Given the description of an element on the screen output the (x, y) to click on. 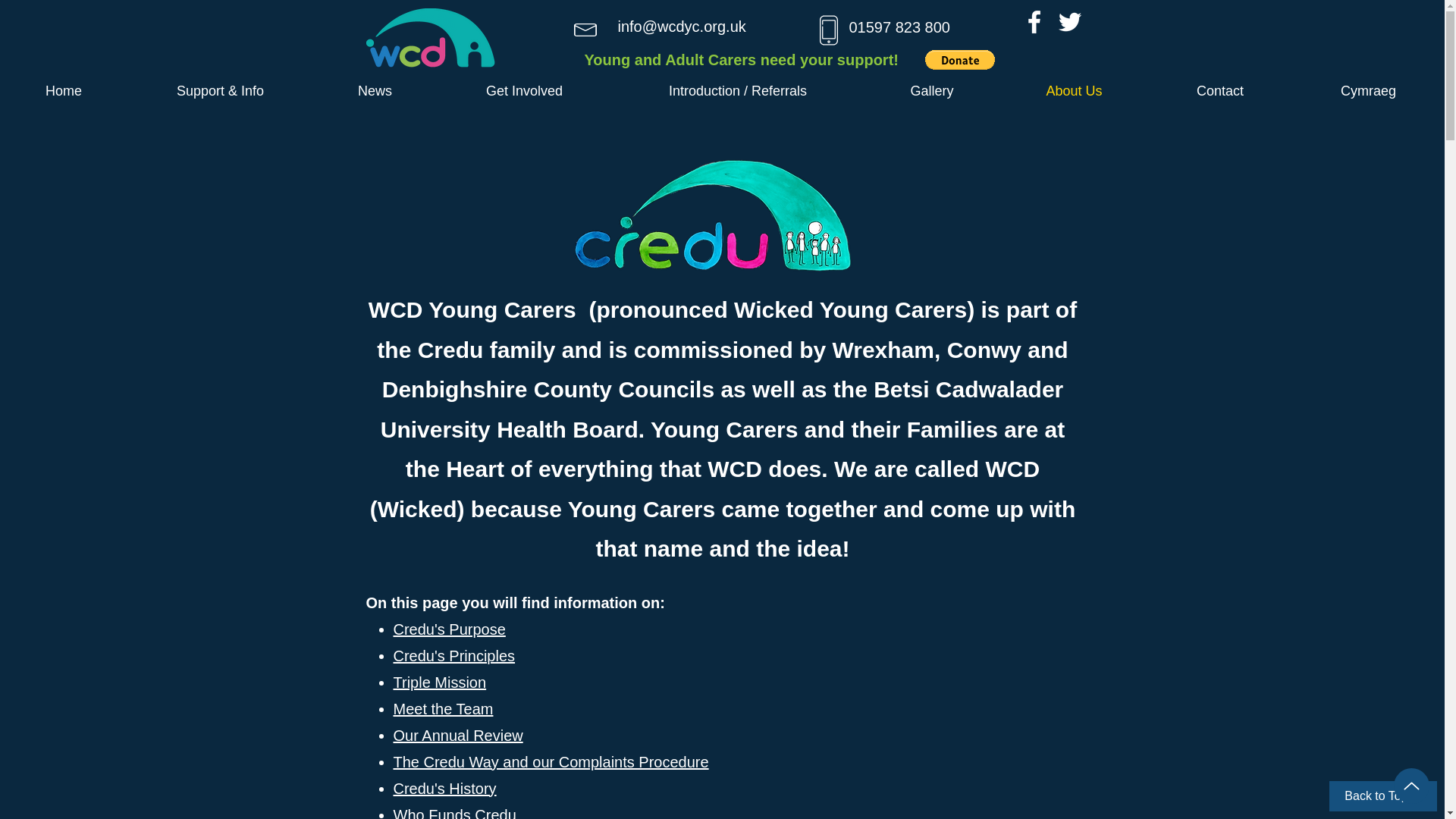
Who Funds Credu (454, 812)
Credu's Principles (454, 655)
Gallery (931, 90)
The Credu Way and our Complaints Procedure (550, 761)
Triple Mission (439, 681)
Credu's History (444, 787)
Credu's Purpose (449, 628)
Our Annual Review (457, 734)
Meet the Team (443, 709)
Back to Top (1383, 796)
